Given the description of an element on the screen output the (x, y) to click on. 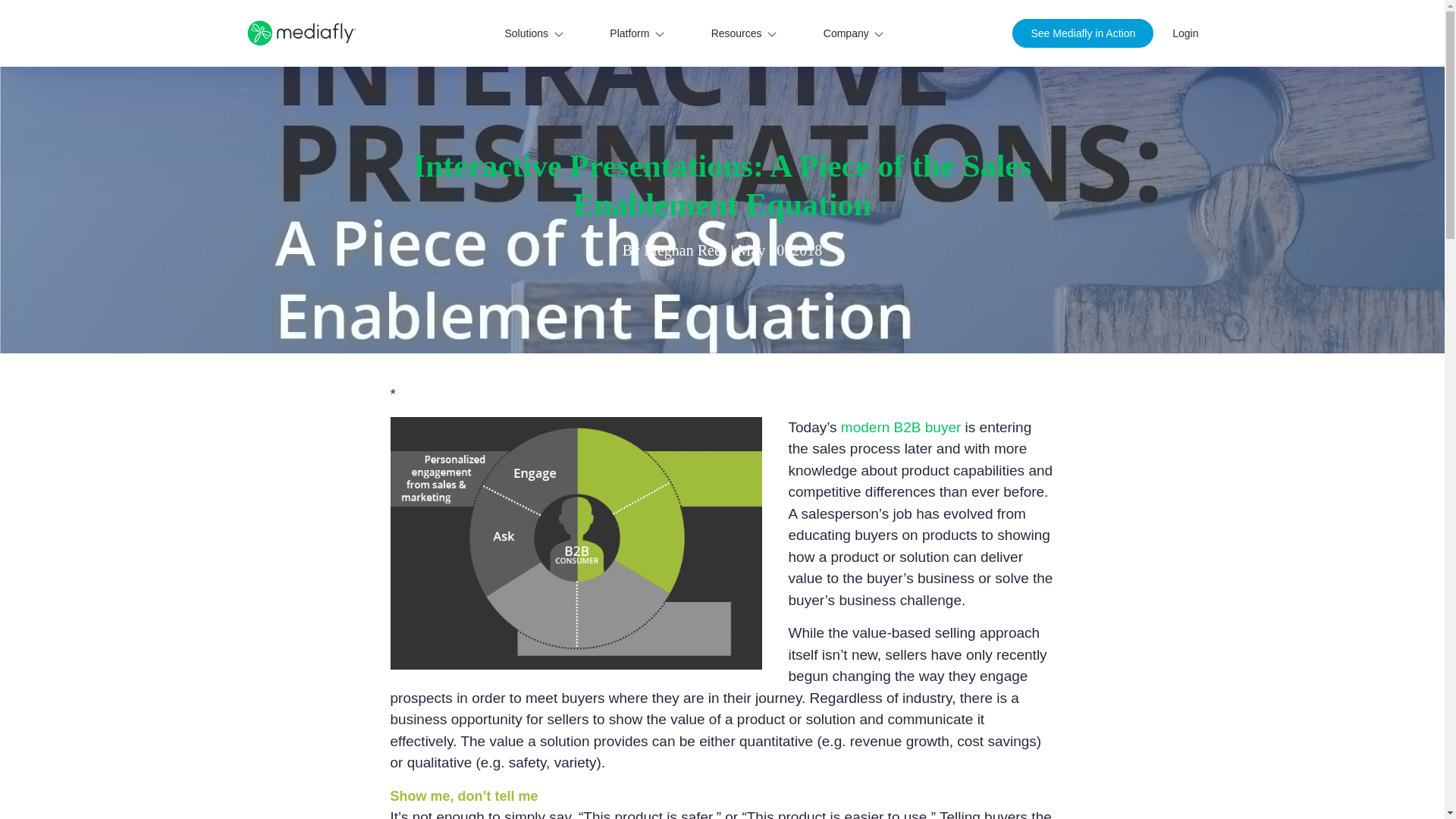
Solutions  (532, 33)
Resources  (744, 33)
Platform  (636, 33)
